Given the description of an element on the screen output the (x, y) to click on. 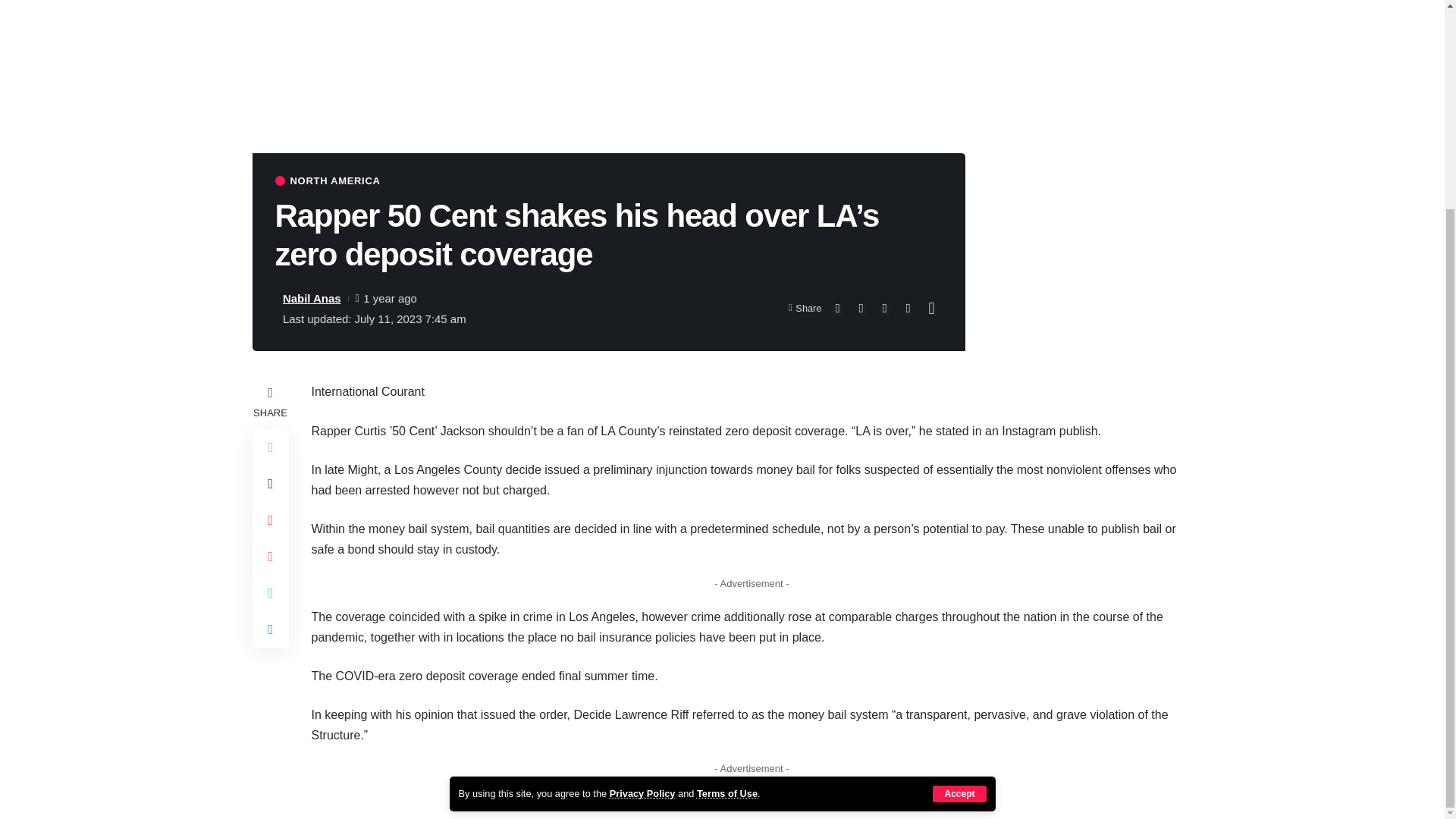
Terms of Use (727, 522)
Privacy Policy (642, 522)
Accept (959, 523)
